Given the description of an element on the screen output the (x, y) to click on. 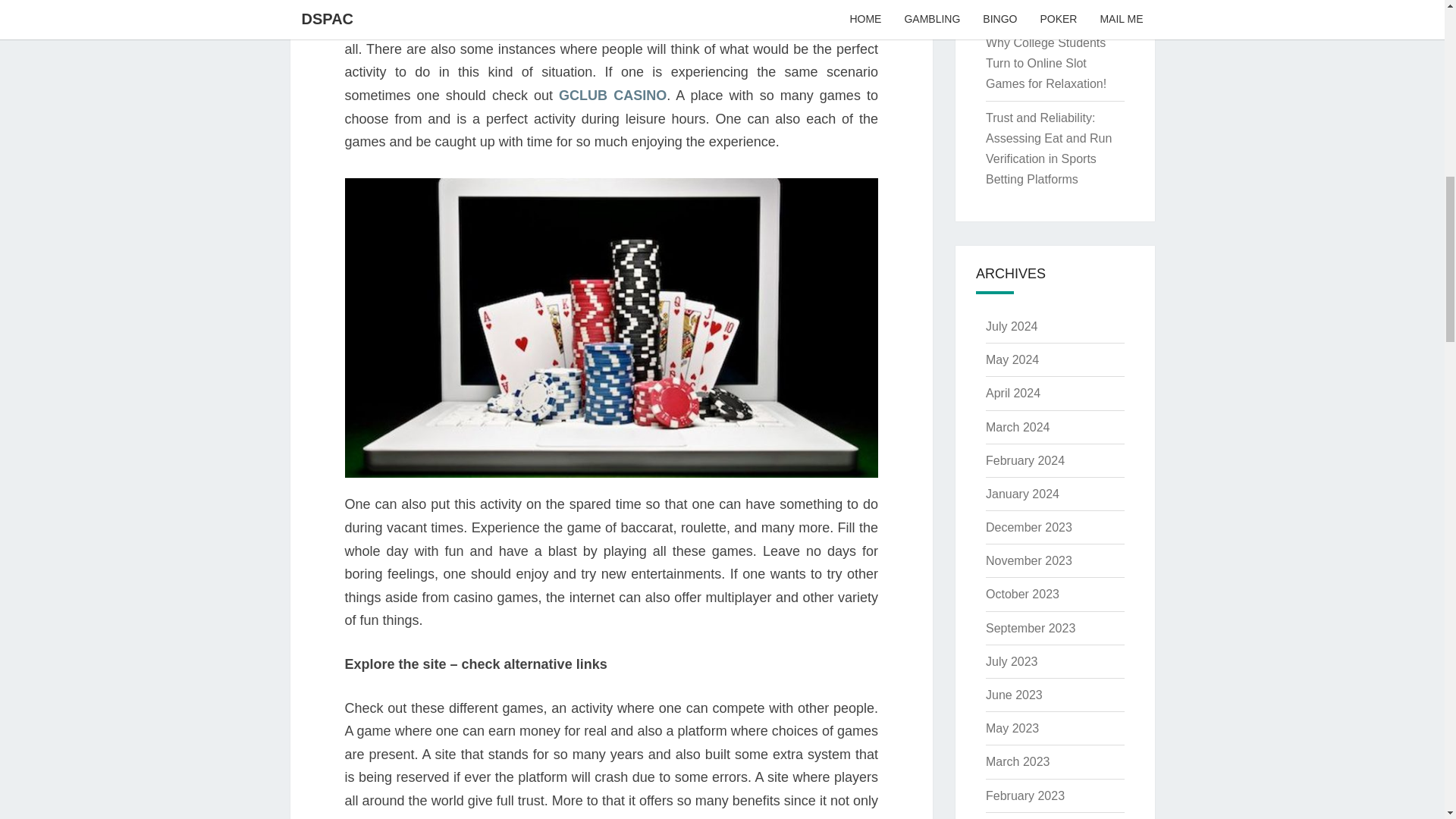
June 2023 (1013, 694)
April 2024 (1013, 392)
January 2024 (1022, 493)
July 2024 (1011, 326)
March 2024 (1017, 426)
September 2023 (1030, 627)
November 2023 (1028, 560)
February 2023 (1024, 795)
October 2023 (1022, 594)
